Given the description of an element on the screen output the (x, y) to click on. 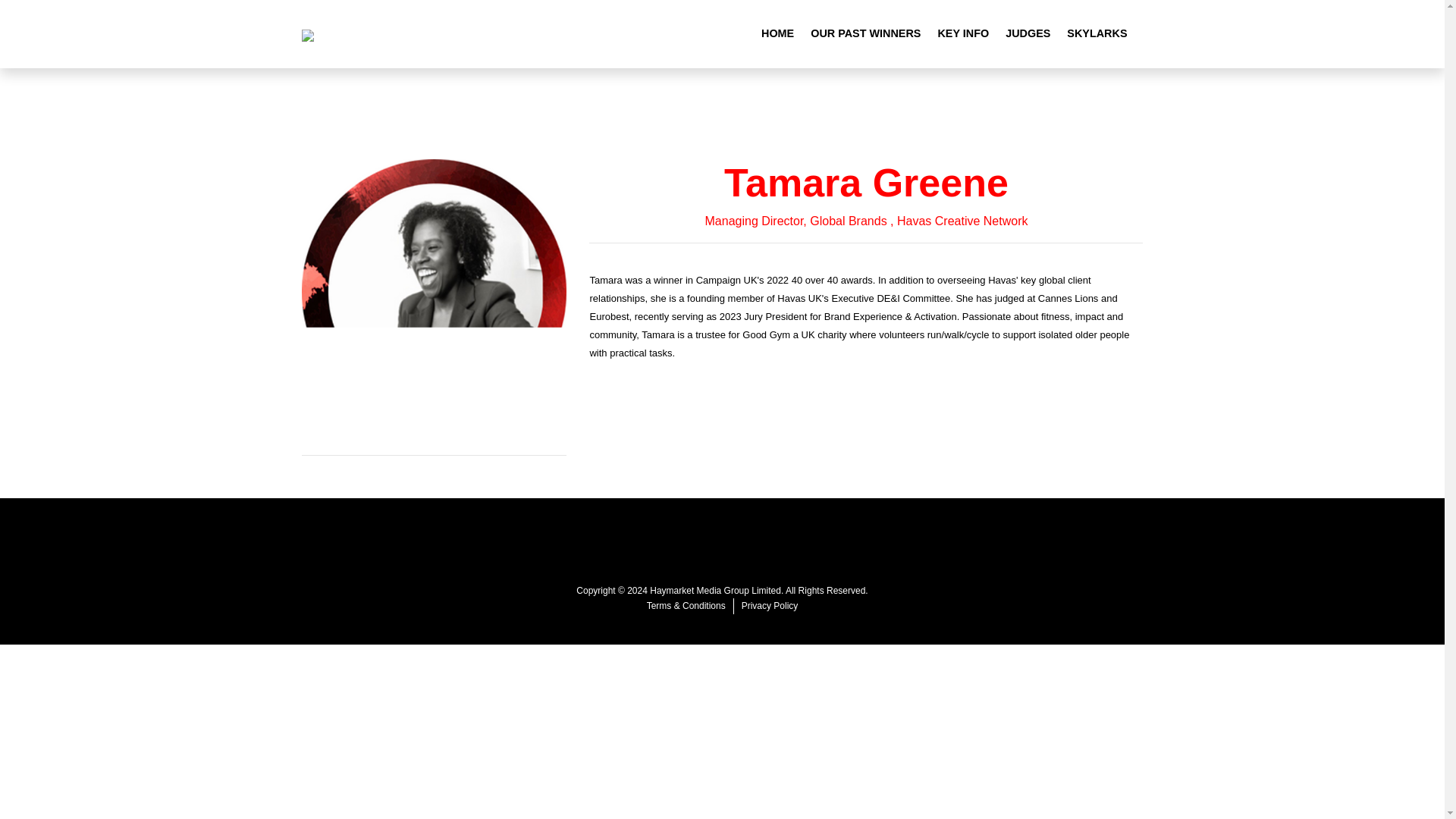
JUDGES (1027, 33)
SKYLARKS (1096, 33)
OUR PAST WINNERS (865, 33)
HOME (777, 33)
OUR PAST WINNERS (865, 33)
Privacy Policy (769, 605)
KEY INFO (962, 33)
KEY INFO (962, 33)
JUDGES (1027, 33)
SKYLARKS (1096, 33)
HOME (777, 33)
